Given the description of an element on the screen output the (x, y) to click on. 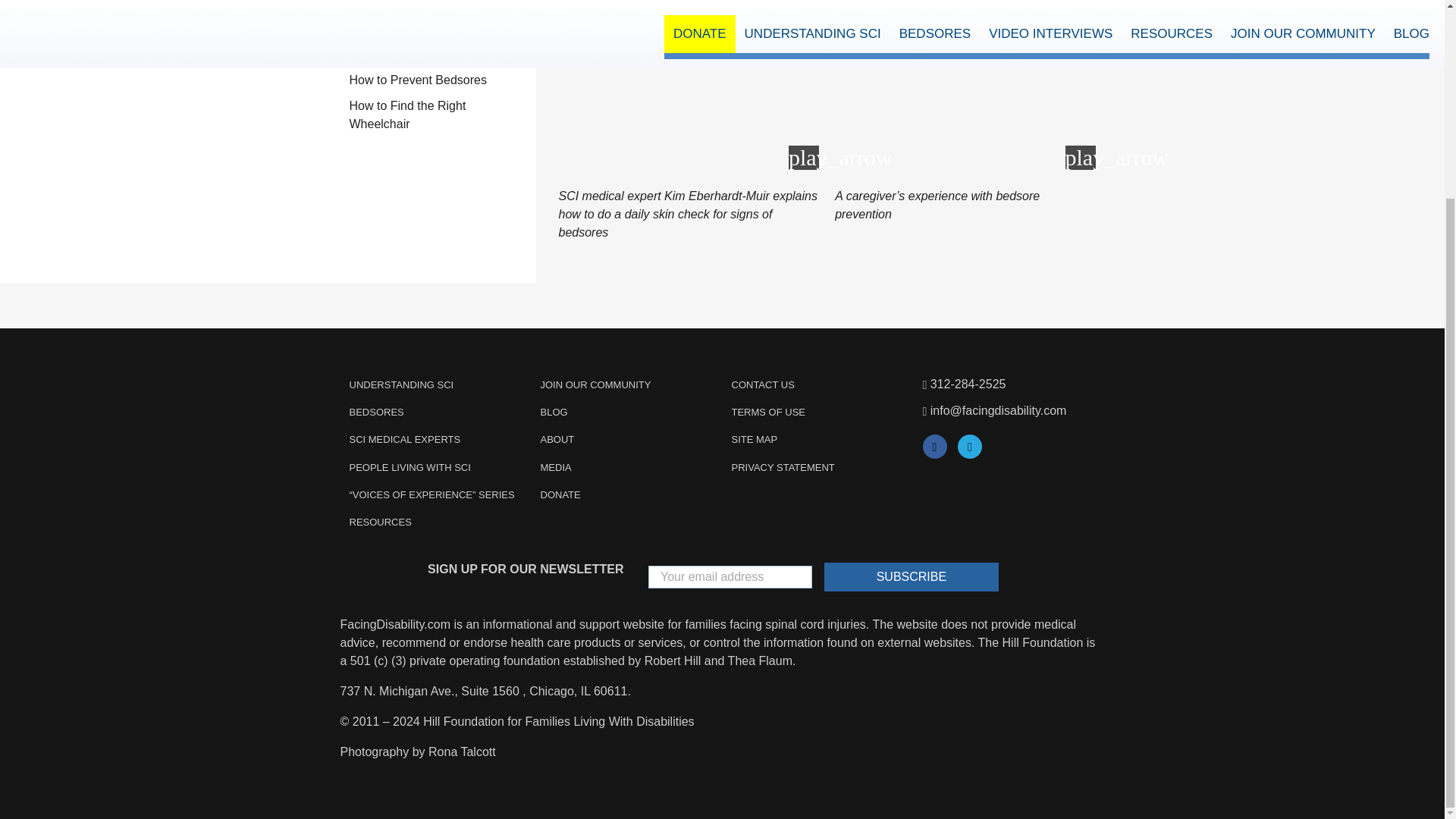
How to Prevent Bedsores (438, 80)
SUBSCRIBE (911, 576)
Daily Skin Inspections (438, 54)
Bedsore Treatment (438, 28)
